Given the description of an element on the screen output the (x, y) to click on. 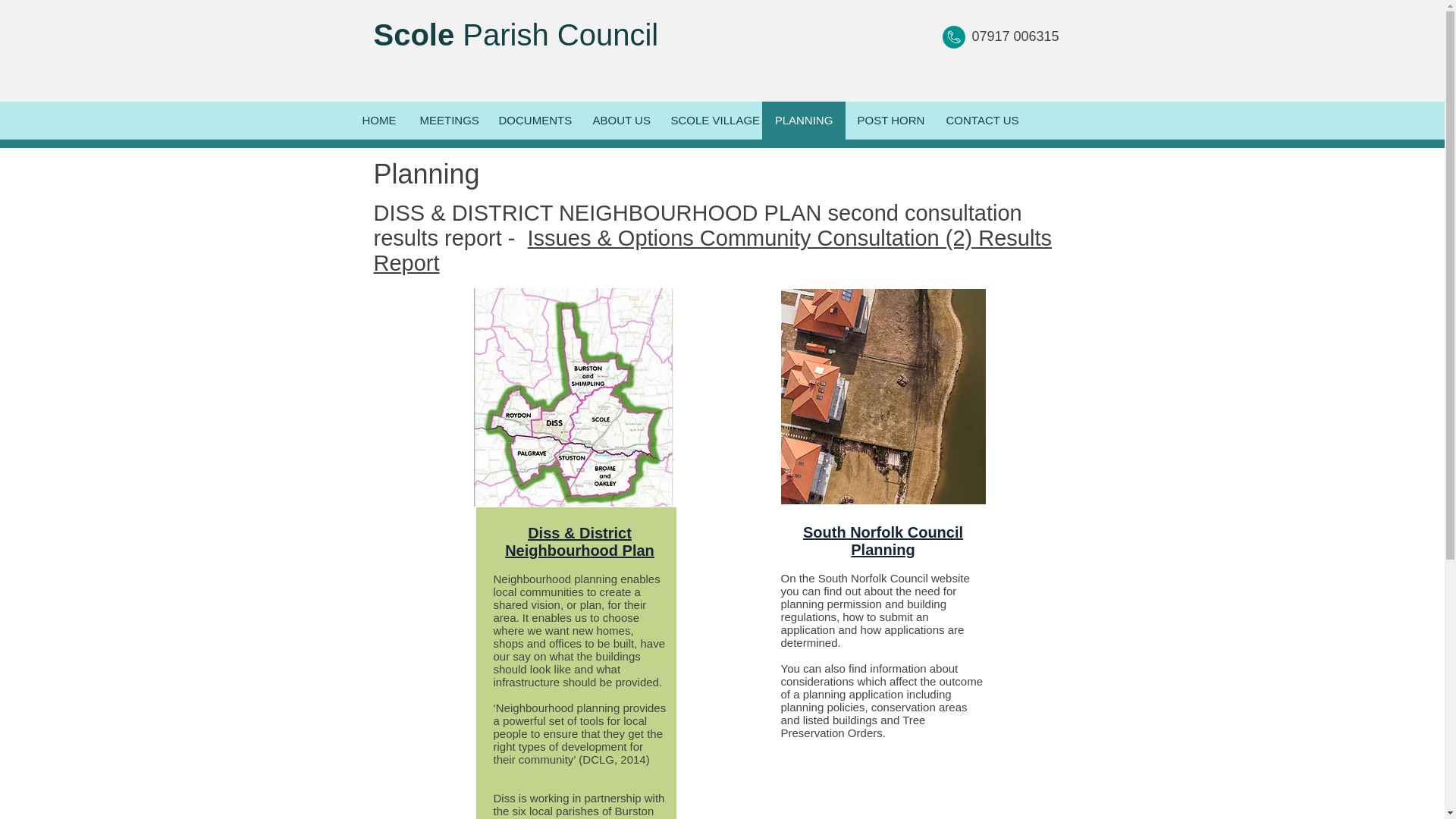
PLANNING (802, 120)
DOCUMENTS (533, 120)
South Norfolk Council Planning (882, 540)
SCOLE VILLAGE (709, 120)
HOME (378, 120)
Scole Parish Council (515, 34)
POST HORN (888, 120)
MEETINGS (446, 120)
CONTACT US (981, 120)
